Given the description of an element on the screen output the (x, y) to click on. 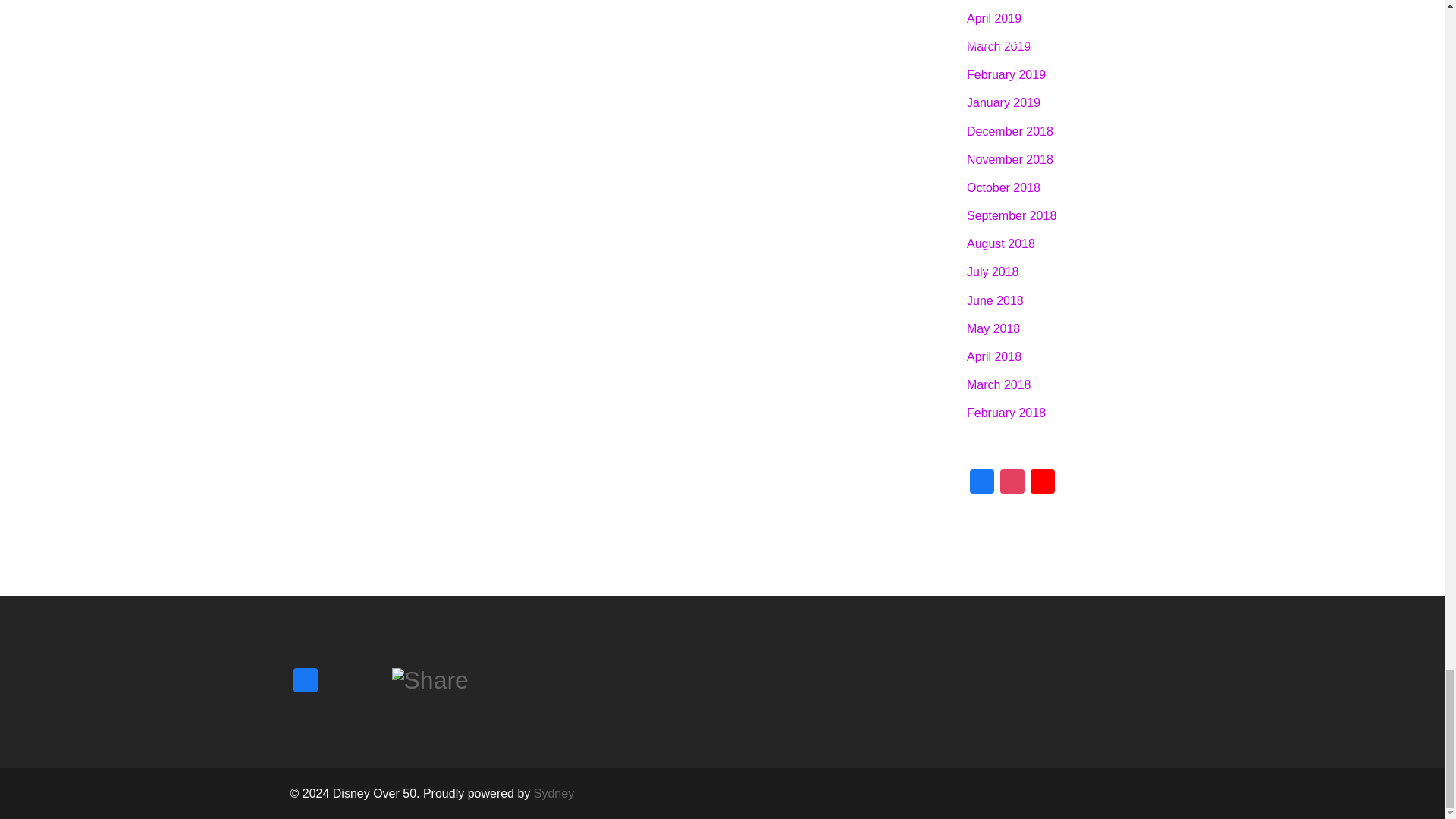
Facebook (981, 483)
YouTube (1042, 483)
Instagram (1012, 483)
Facebook (304, 682)
